Given the description of an element on the screen output the (x, y) to click on. 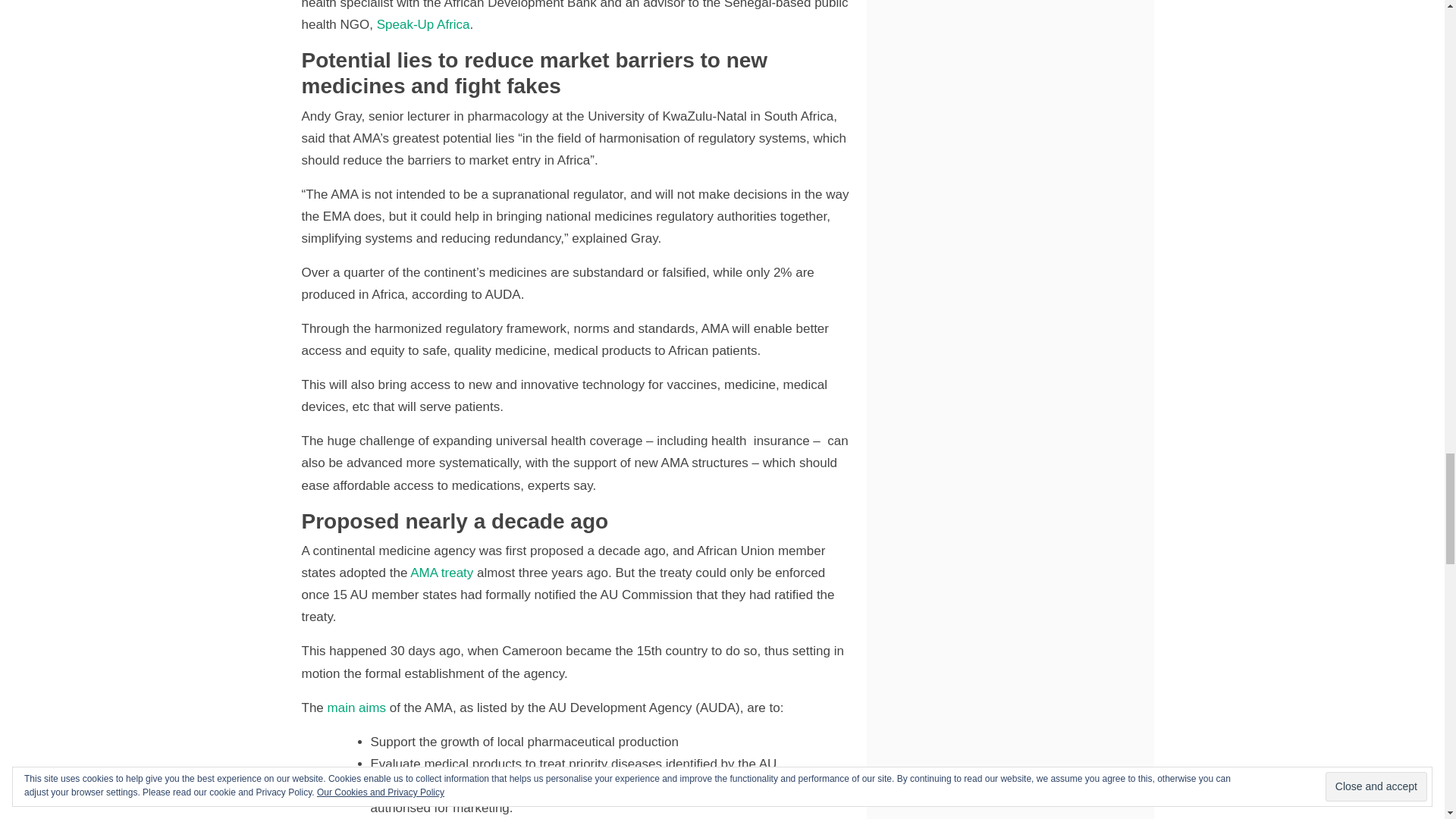
AMA treaty (441, 572)
Speak-Up Africa (423, 24)
main aims (356, 707)
